Given the description of an element on the screen output the (x, y) to click on. 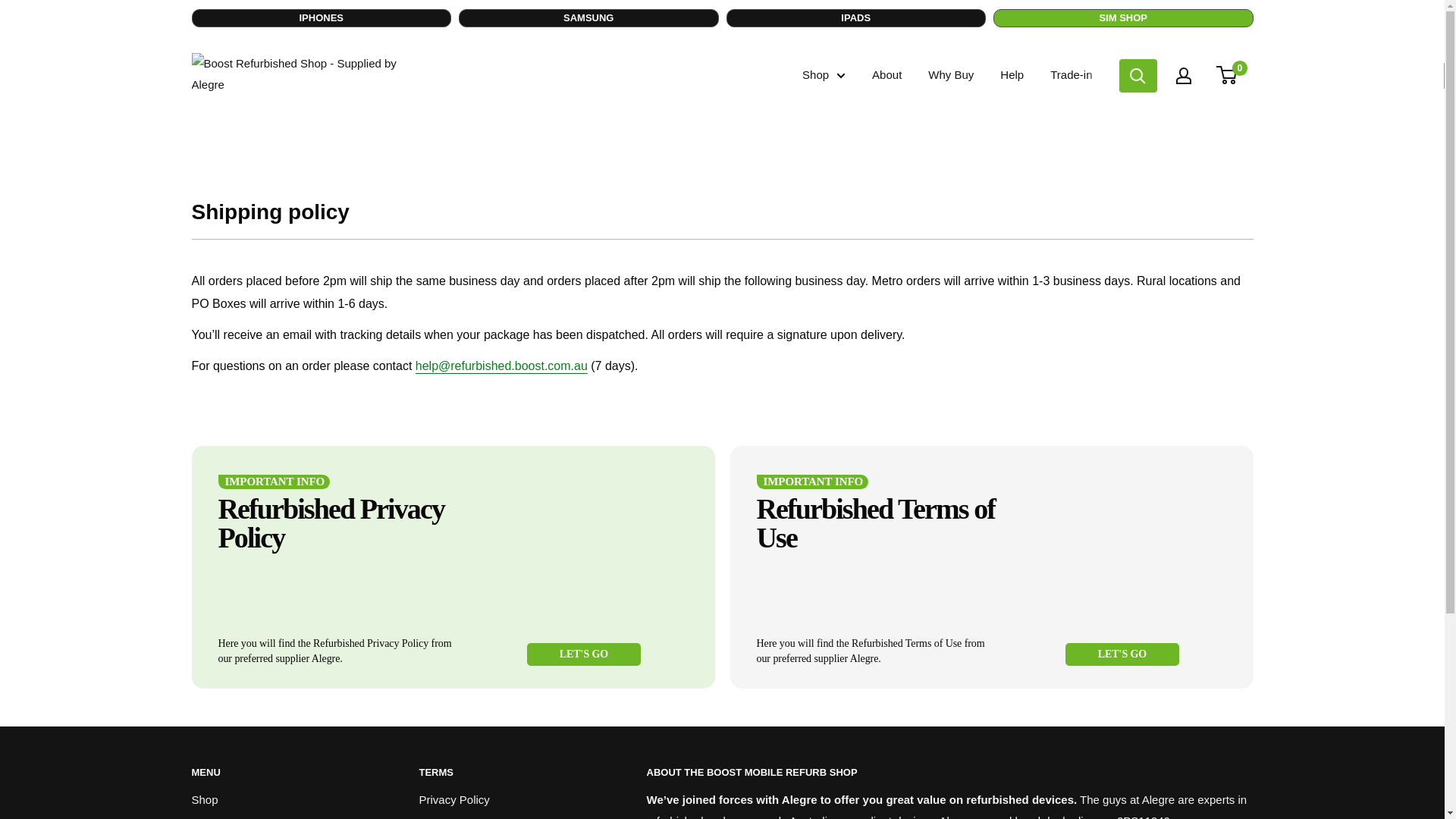
Why Buy (951, 74)
SIM SHOP (1122, 18)
Trade-in (1070, 74)
IPADS (856, 18)
SAMSUNG (588, 18)
Shop (823, 74)
0 (1235, 75)
About (886, 74)
Help (1011, 74)
IPHONES (320, 18)
